Given the description of an element on the screen output the (x, y) to click on. 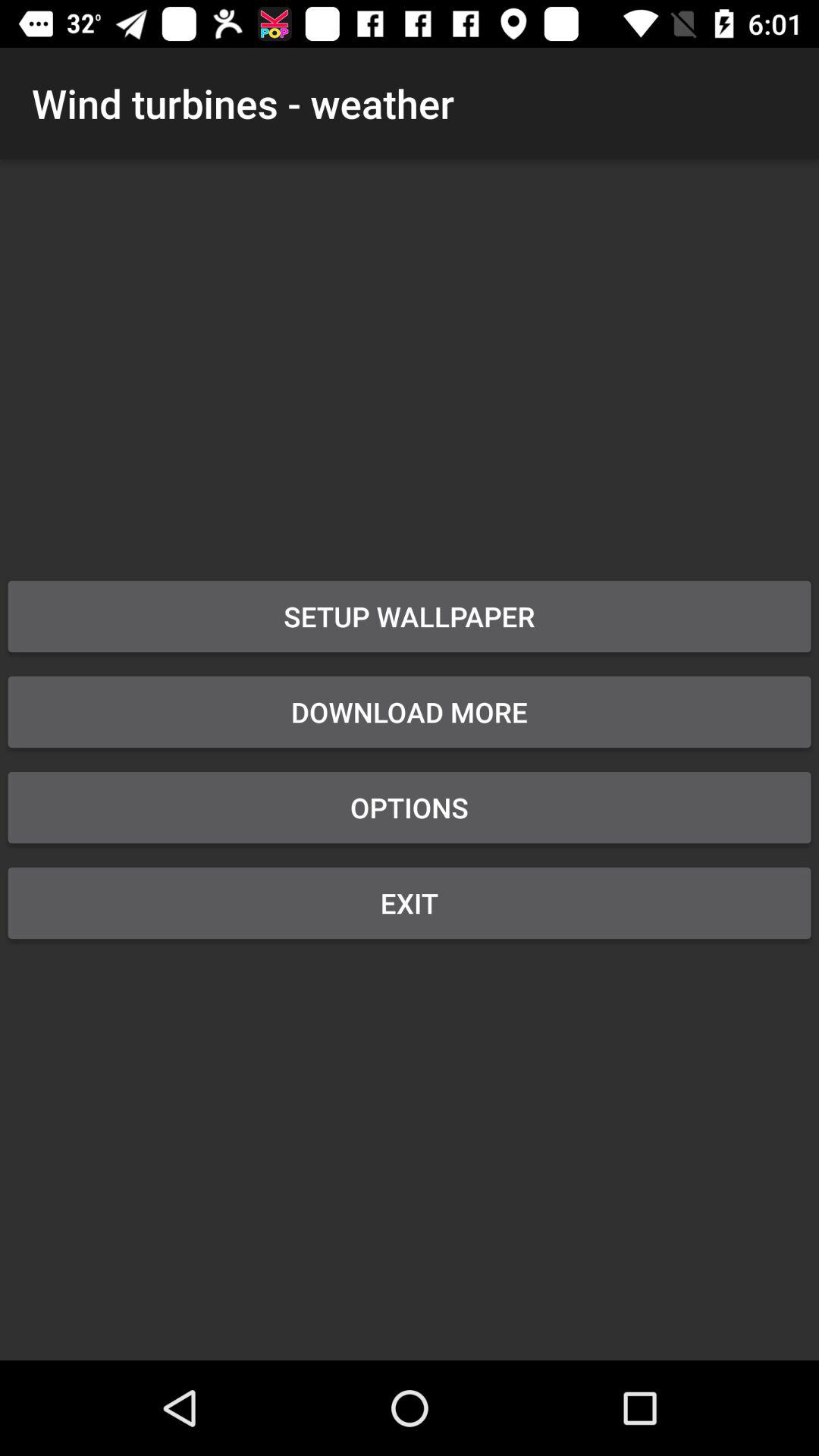
press button above the download more button (409, 616)
